Given the description of an element on the screen output the (x, y) to click on. 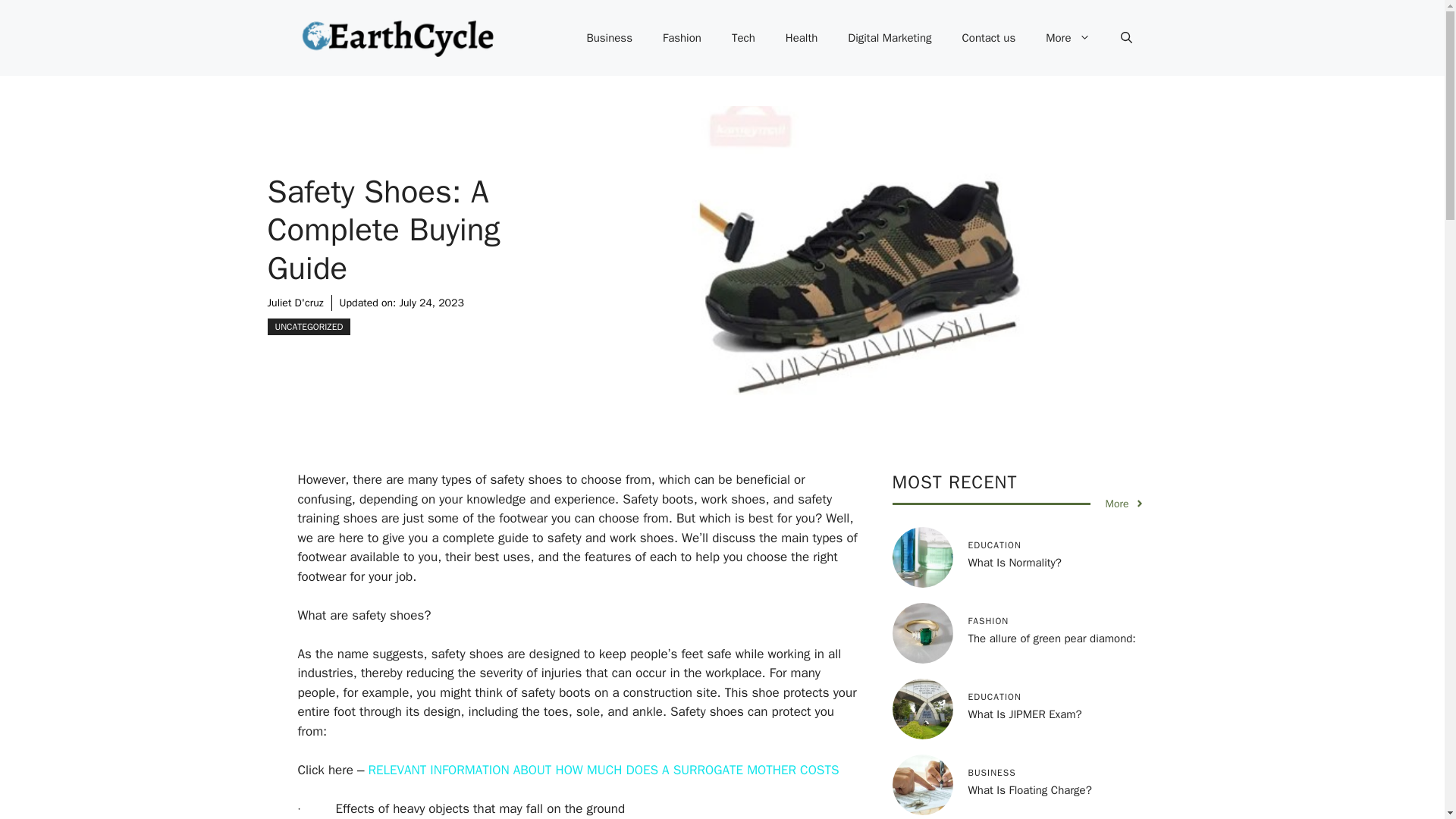
UNCATEGORIZED (308, 326)
More (1067, 37)
More (1124, 503)
What Is Normality? (1014, 562)
Digital Marketing (889, 37)
The allure of green pear diamond: (1051, 638)
Health (801, 37)
Contact us (988, 37)
Juliet D'cruz (294, 302)
Fashion (681, 37)
What Is JIPMER Exam? (1024, 714)
Business (608, 37)
Tech (743, 37)
What Is Floating Charge? (1029, 789)
